Given the description of an element on the screen output the (x, y) to click on. 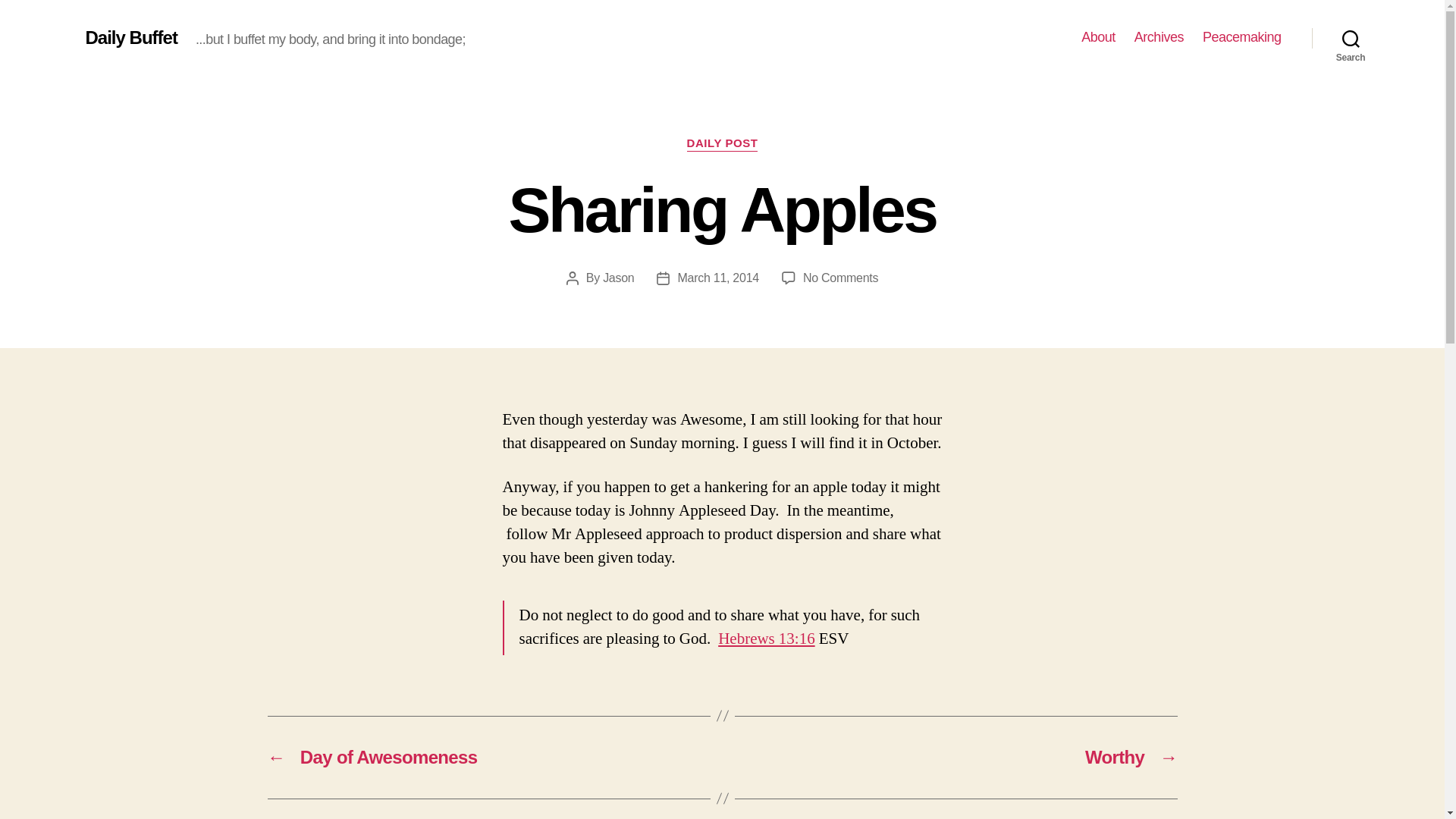
Hebrews 13:16 (840, 277)
Daily Buffet (765, 638)
Jason (130, 37)
About (617, 277)
DAILY POST (1098, 37)
March 11, 2014 (722, 143)
Search (717, 277)
Peacemaking (1350, 37)
Archives (1241, 37)
